Given the description of an element on the screen output the (x, y) to click on. 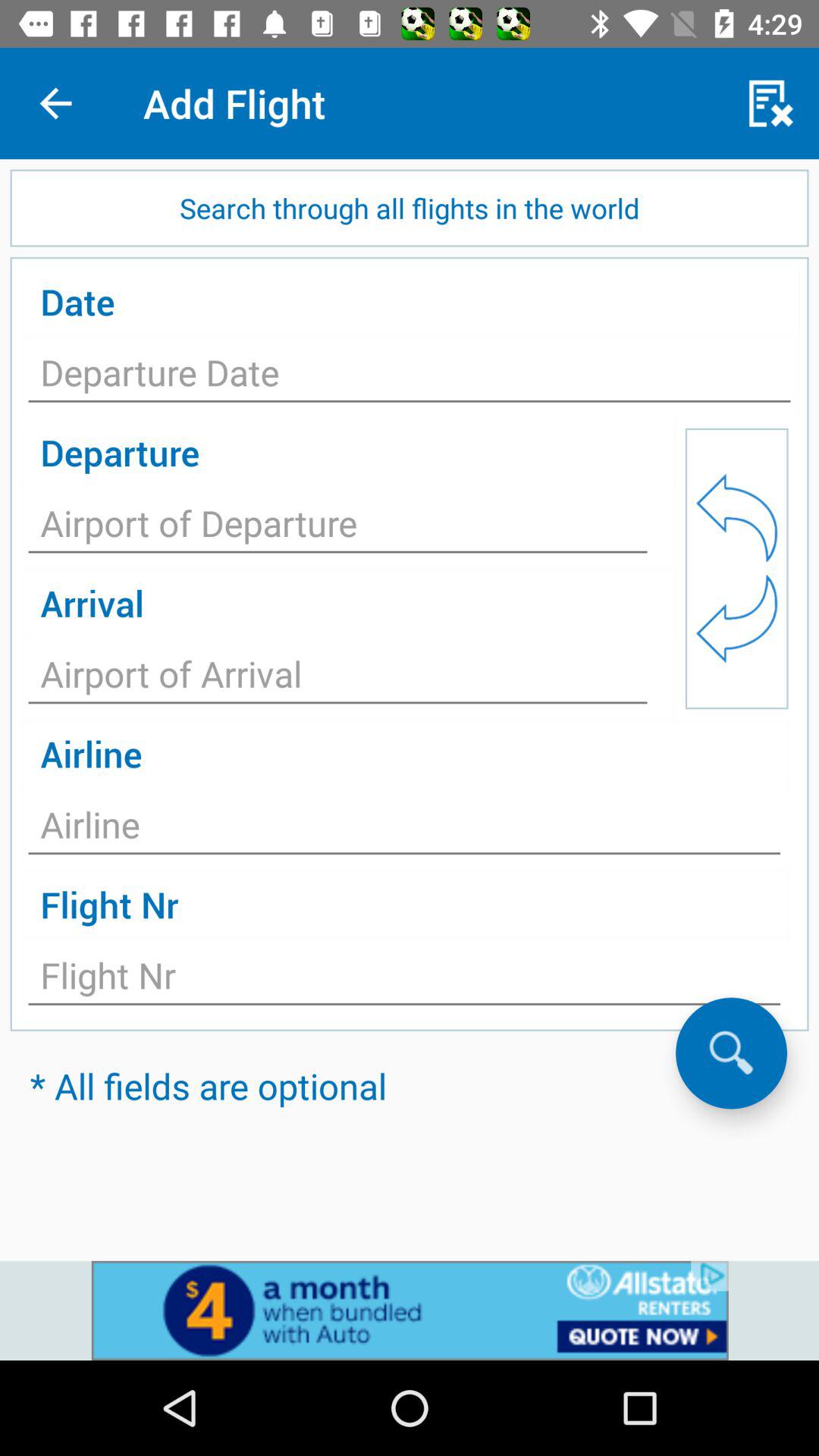
text field (404, 829)
